Given the description of an element on the screen output the (x, y) to click on. 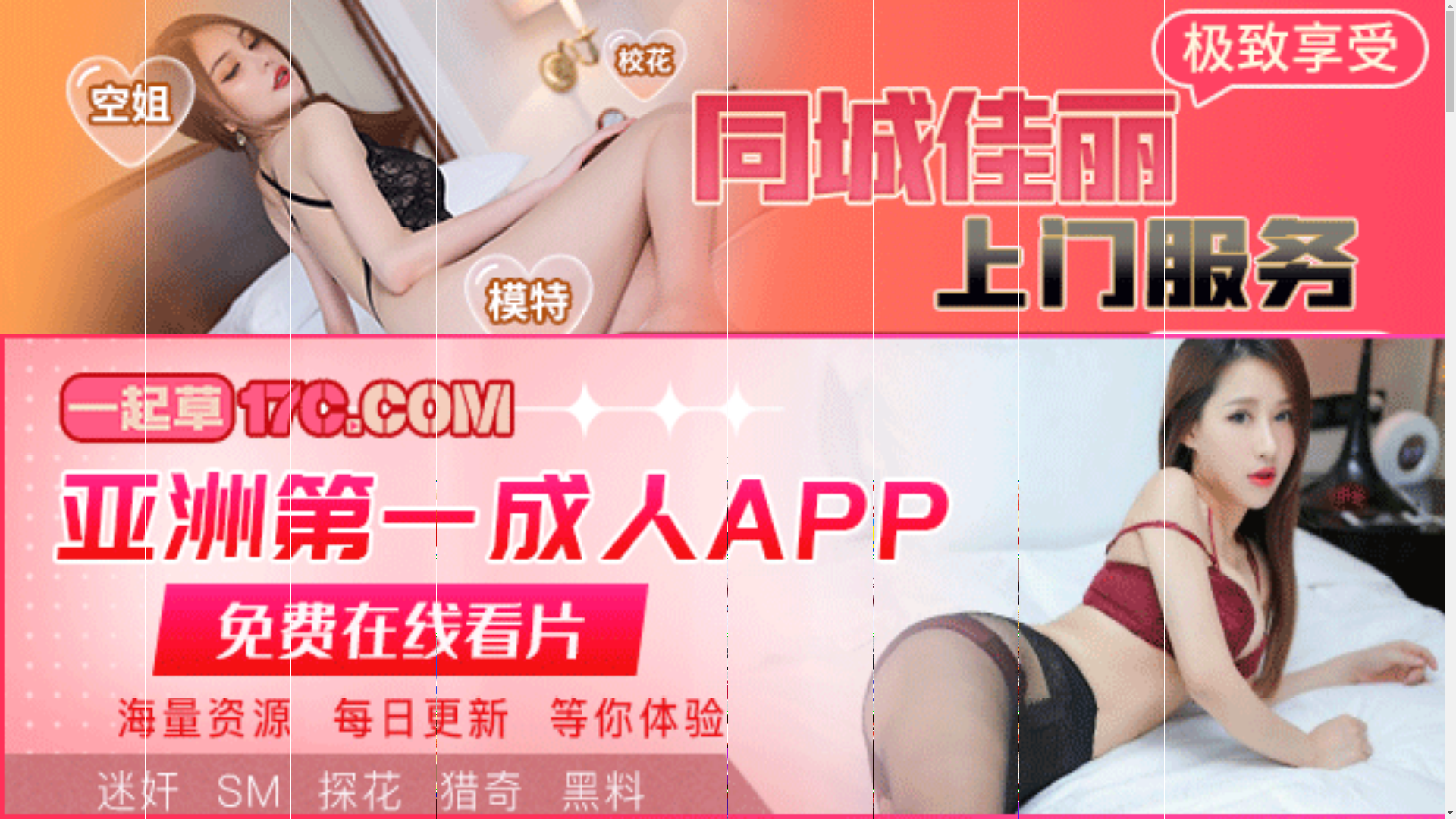
| Element type: text (1076, 471)
| Element type: text (1316, 471)
| Element type: text (535, 471)
| Element type: text (1353, 471)
6686 Element type: hover (721, 747)
| Element type: text (343, 471)
| Element type: text (1407, 471)
6686 Element type: hover (721, 669)
| Element type: text (627, 471)
| Element type: text (259, 471)
| Element type: text (719, 471)
| Element type: text (809, 471)
| Element type: text (199, 471)
| Element type: text (910, 471)
| Element type: text (1181, 471)
| Element type: text (866, 471)
| Element type: text (952, 471)
| Element type: text (1125, 471)
| Element type: text (755, 471)
| Element type: text (381, 471)
| Element type: text (1020, 471)
| Element type: text (489, 471)
6686 Element type: hover (721, 552)
| Element type: text (1250, 471)
| Element type: text (578, 471)
| Element type: text (443, 471)
| Element type: text (225, 471)
| Element type: text (987, 471)
| Element type: text (683, 471)
| Element type: text (305, 471)
| Element type: text (1049, 471)
| Element type: text (1224, 471)
